Given the description of an element on the screen output the (x, y) to click on. 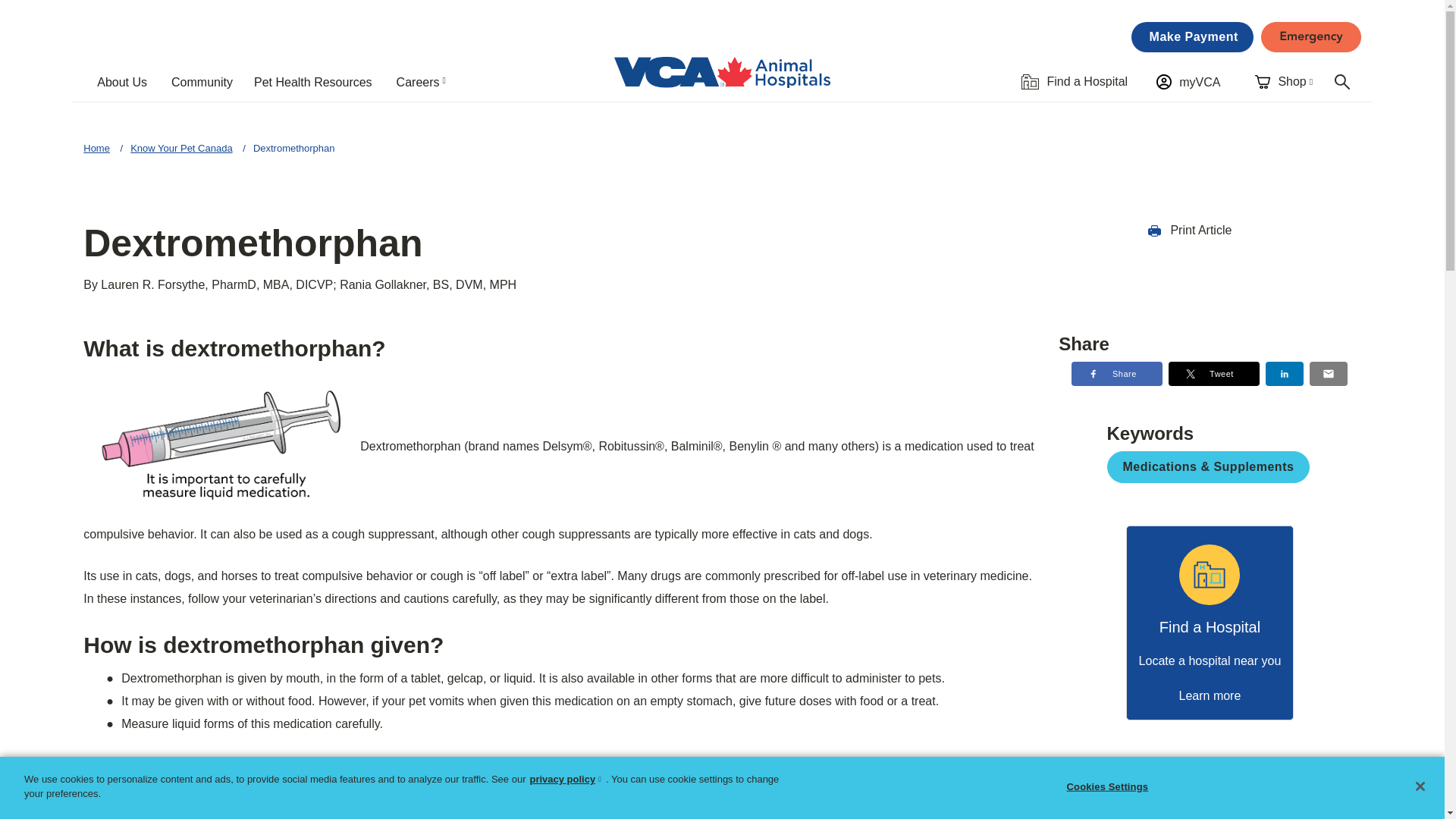
About Us (127, 82)
Shop (1286, 81)
Community (206, 82)
Know Your Pet Canada (181, 147)
Careers (428, 82)
Pet Health Resources (318, 82)
Make Payment (1192, 37)
myVCA (1187, 81)
Find a Hospital (1074, 81)
Print Article (1189, 229)
